Given the description of an element on the screen output the (x, y) to click on. 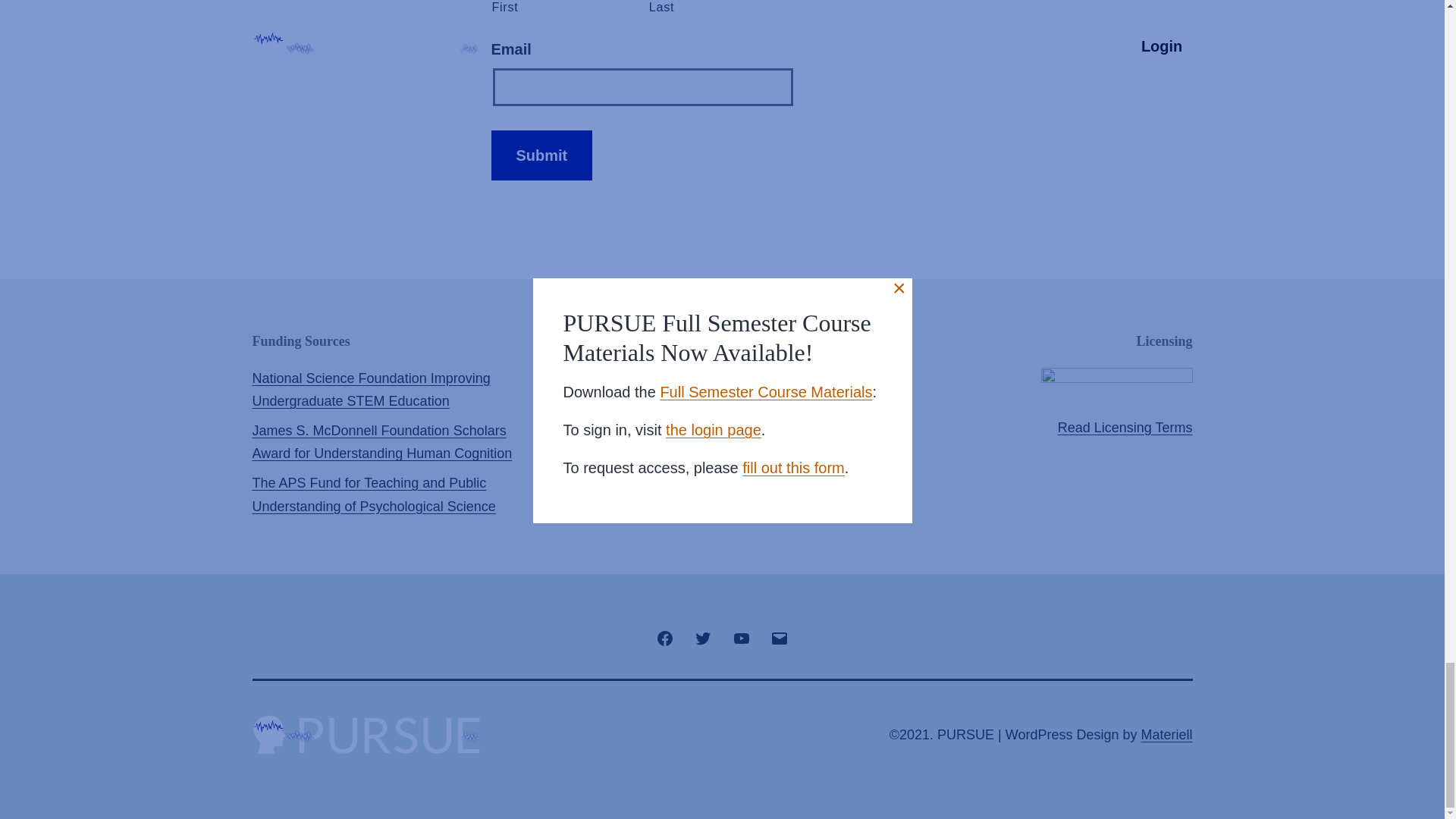
Submit (542, 155)
Claremont McKenna College (665, 378)
Submit (542, 155)
